Given the description of an element on the screen output the (x, y) to click on. 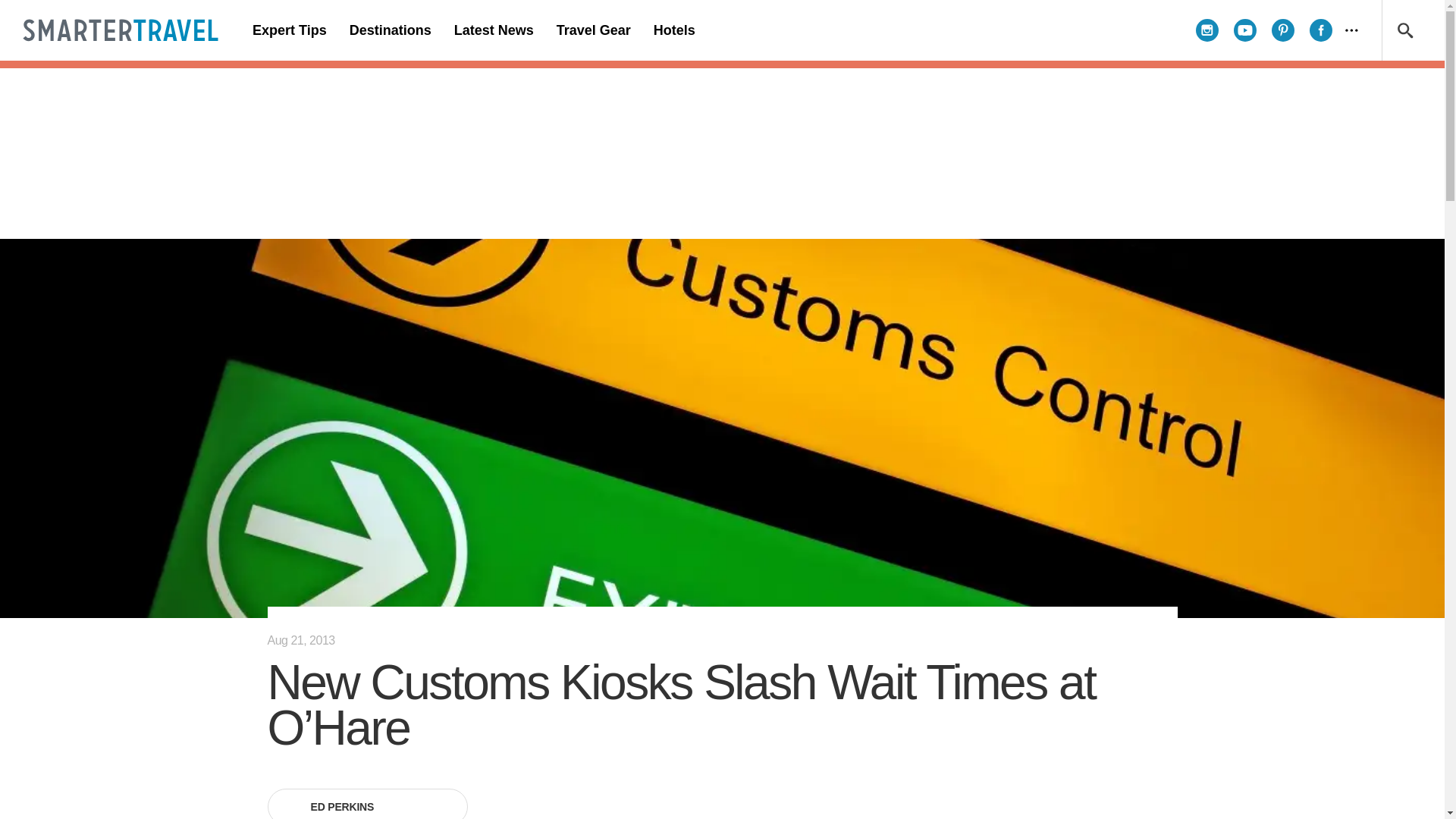
Hotels (674, 30)
Latest News (493, 30)
Expert Tips (289, 30)
Travel Gear (593, 30)
Destinations (389, 30)
